Given the description of an element on the screen output the (x, y) to click on. 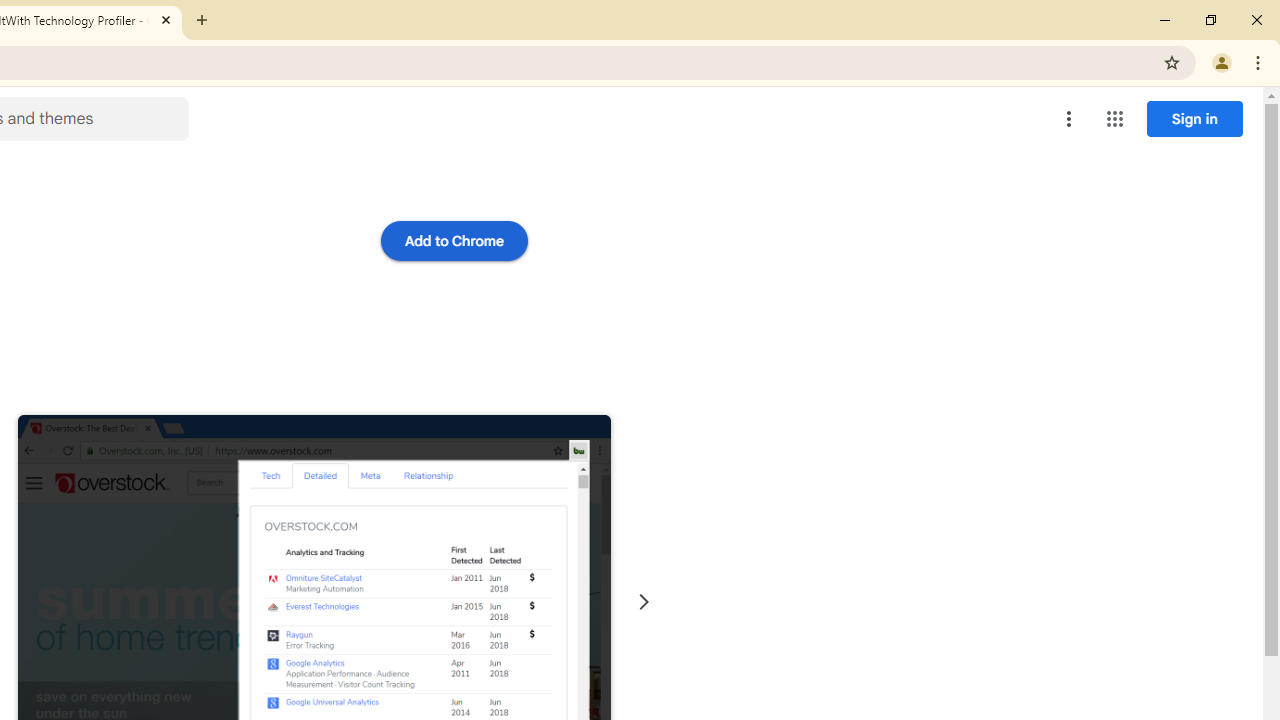
Next slide (643, 601)
More options menu (1069, 118)
Add to Chrome (453, 240)
